Given the description of an element on the screen output the (x, y) to click on. 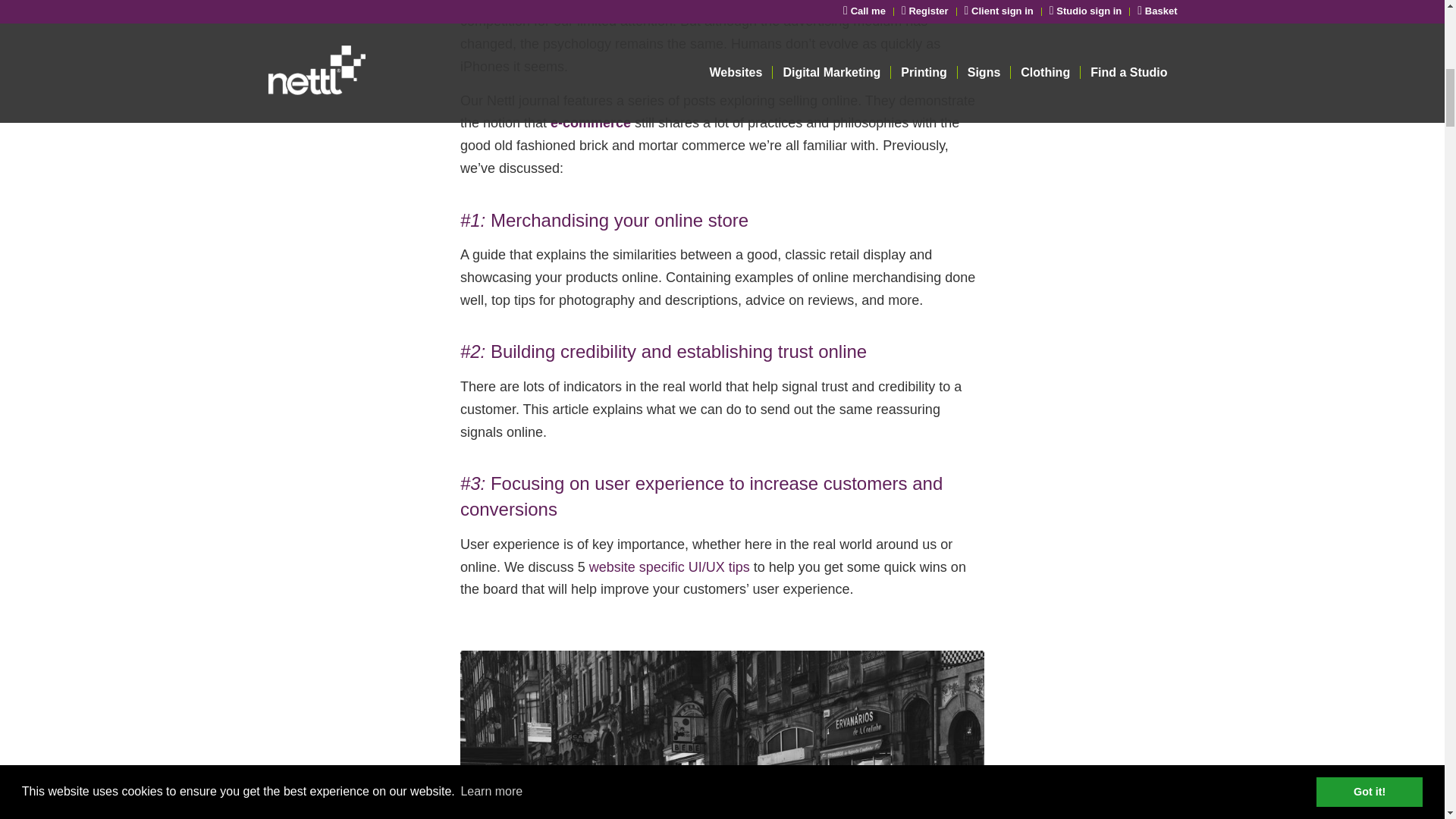
queue600 (722, 734)
